Given the description of an element on the screen output the (x, y) to click on. 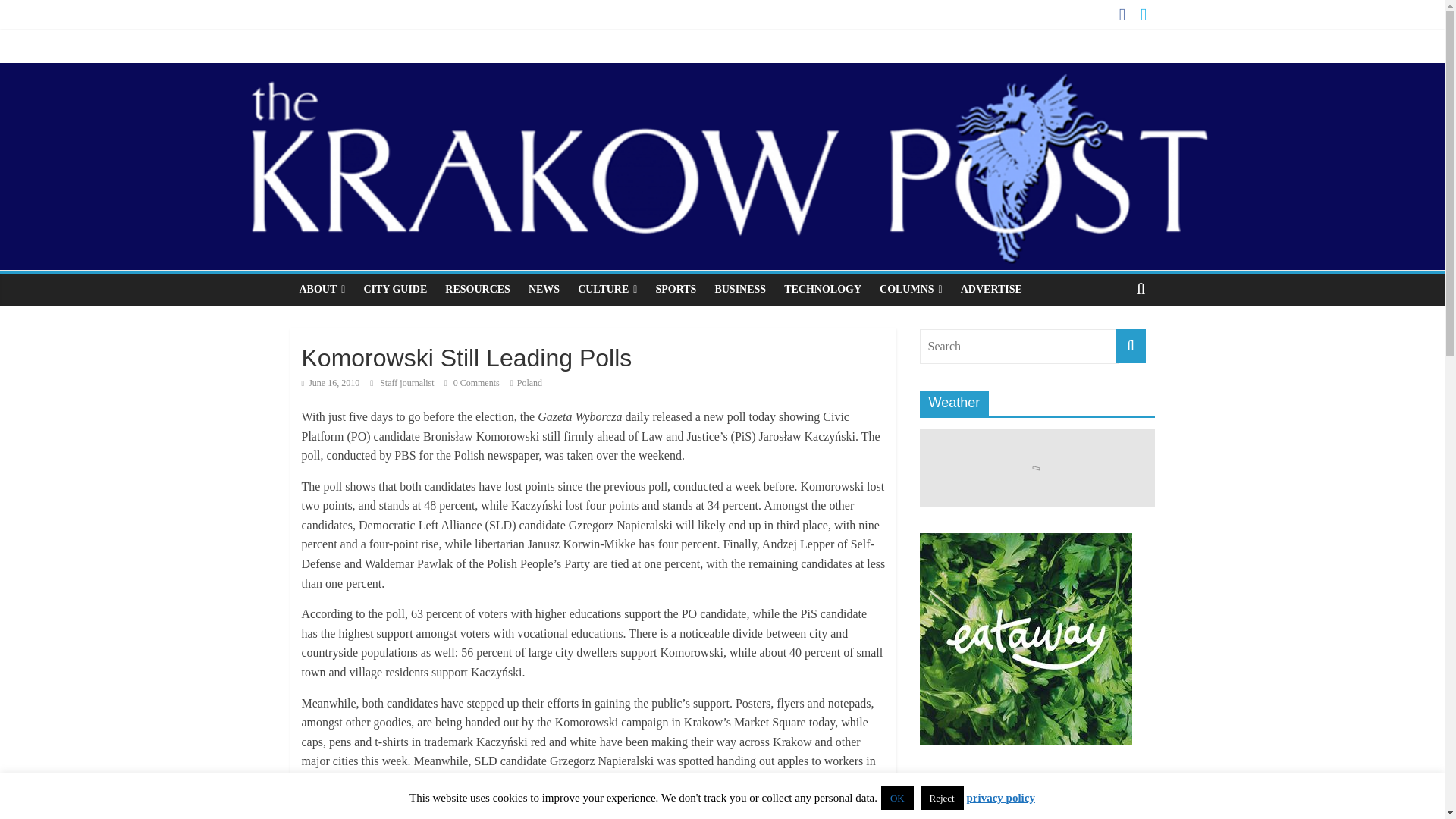
ABOUT (321, 289)
Staff journalist (407, 382)
CULTURE (607, 289)
CITY GUIDE (394, 289)
SPORTS (675, 289)
TECHNOLOGY (822, 289)
4:44 am (330, 382)
BUSINESS (739, 289)
NEWS (544, 289)
RESOURCES (477, 289)
